Given the description of an element on the screen output the (x, y) to click on. 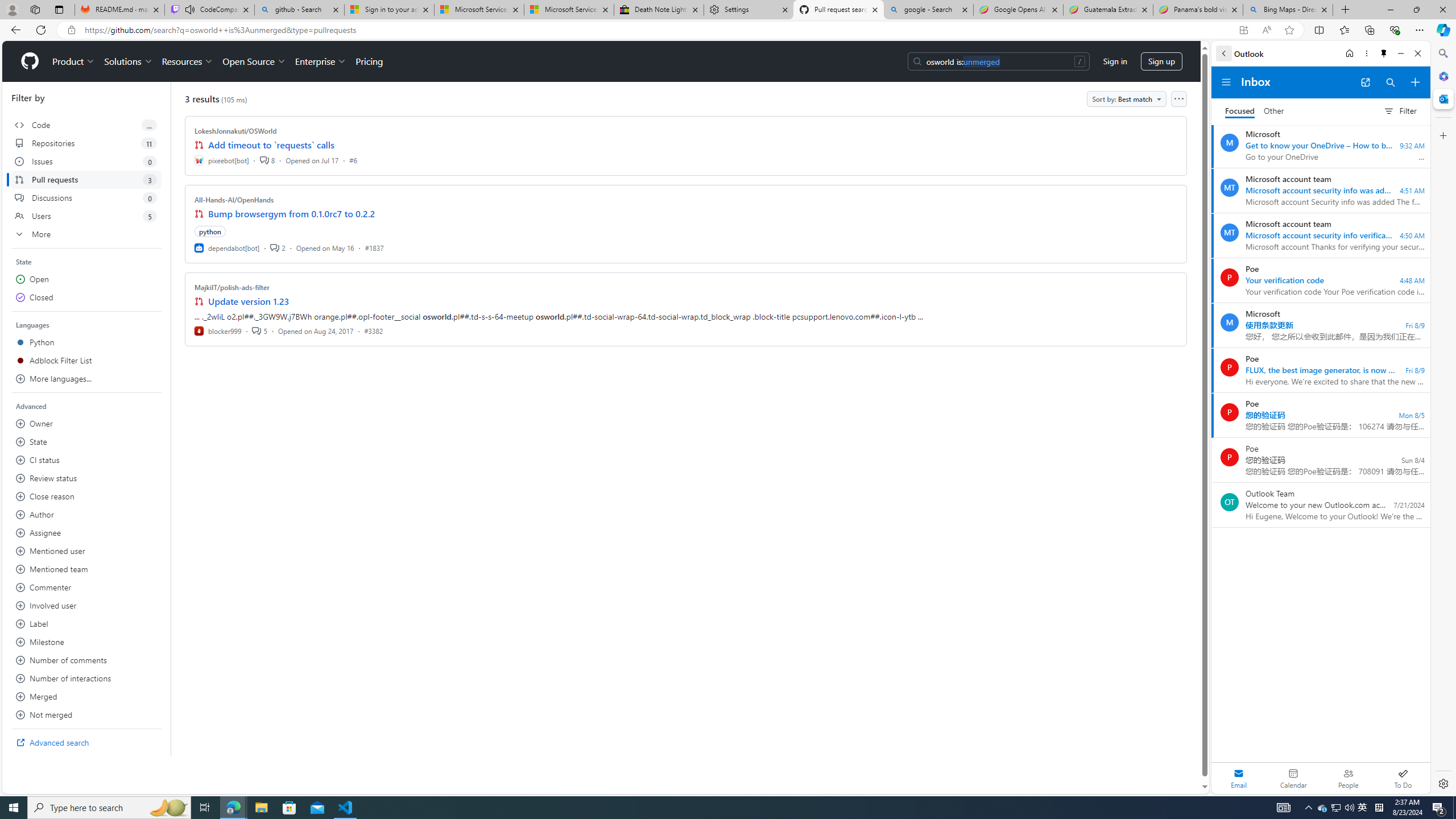
Draggable pane splitter (169, 418)
dependabot[bot] (227, 247)
More (86, 234)
Google Opens AI Academy for Startups - Nearshore Americas (1018, 9)
